Given the description of an element on the screen output the (x, y) to click on. 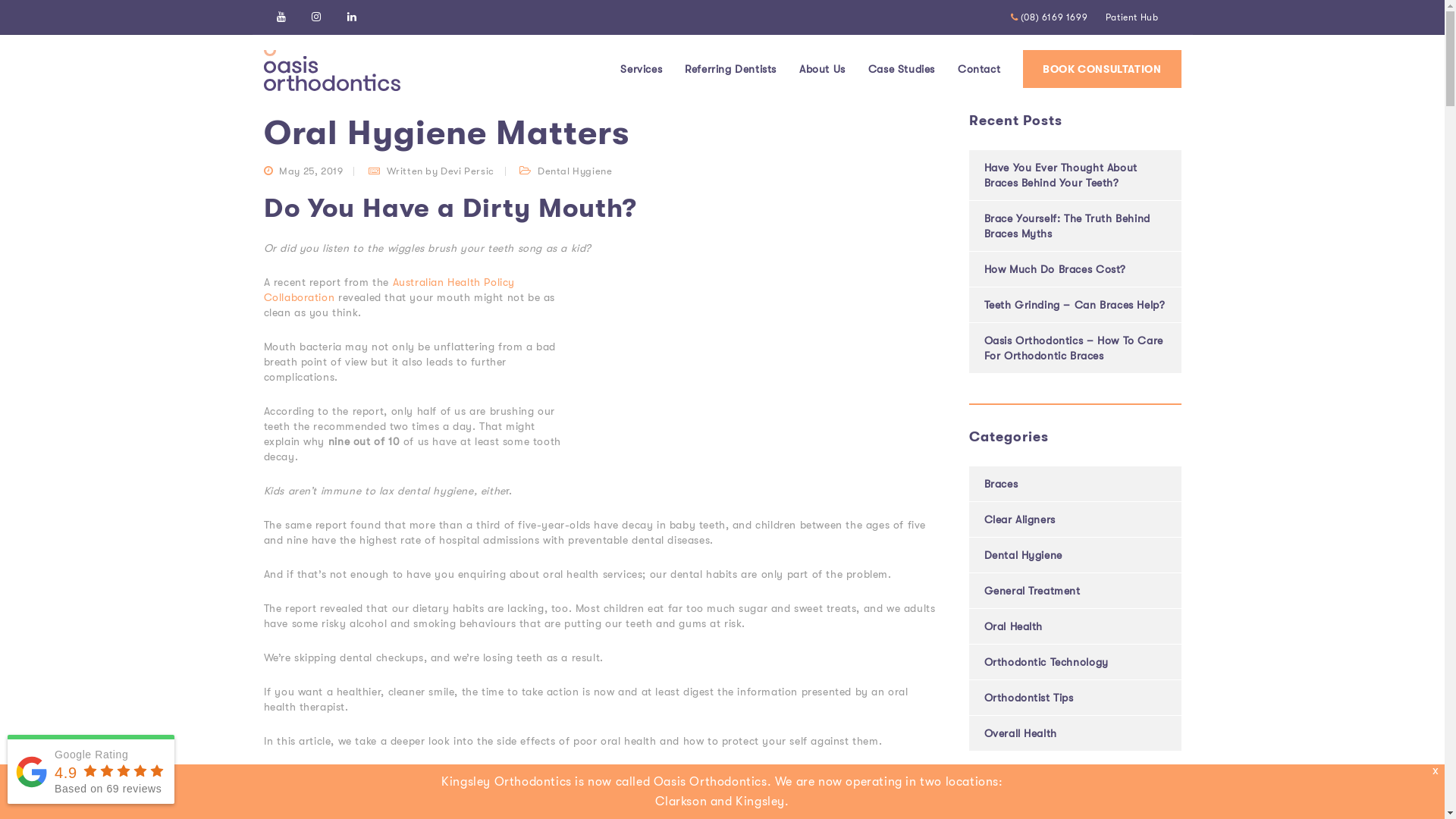
Orthodontist Tips Element type: text (1028, 697)
Referring Dentists Element type: text (730, 67)
General Treatment Element type: text (1032, 590)
BOOK CONSULTATION Element type: text (1101, 68)
Dental Hygiene Element type: text (476, 32)
Services Element type: text (641, 67)
Clear Aligners Element type: text (1019, 519)
Overall Health Element type: text (1020, 733)
Oral Health Element type: text (1013, 626)
Case Studies Element type: text (901, 67)
Oasis Orthodontics Element type: text (313, 32)
About Us Element type: text (822, 67)
Dental Hygiene Element type: text (1023, 555)
Devi Persic Element type: text (467, 170)
How Much Do Braces Cost? Element type: text (1055, 269)
Australian Health Policy Collaboration Element type: text (388, 289)
Blog Element type: text (400, 32)
Contact Element type: text (978, 67)
Braces Element type: text (1001, 483)
Patient Hub Element type: text (1131, 17)
Brace Yourself: The Truth Behind Braces Myths Element type: text (1067, 225)
(08) 6169 1699 Element type: text (1049, 17)
Dental Hygiene Element type: text (574, 170)
Orthodontic Technology Element type: text (1046, 661)
Have You Ever Thought About Braces Behind Your Teeth? Element type: text (1060, 174)
